Given the description of an element on the screen output the (x, y) to click on. 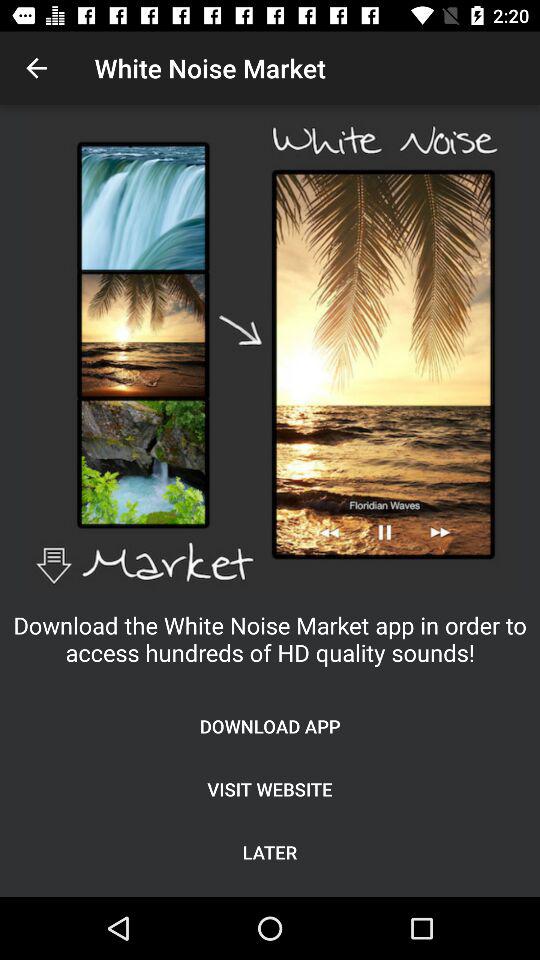
scroll to the visit website (269, 788)
